Given the description of an element on the screen output the (x, y) to click on. 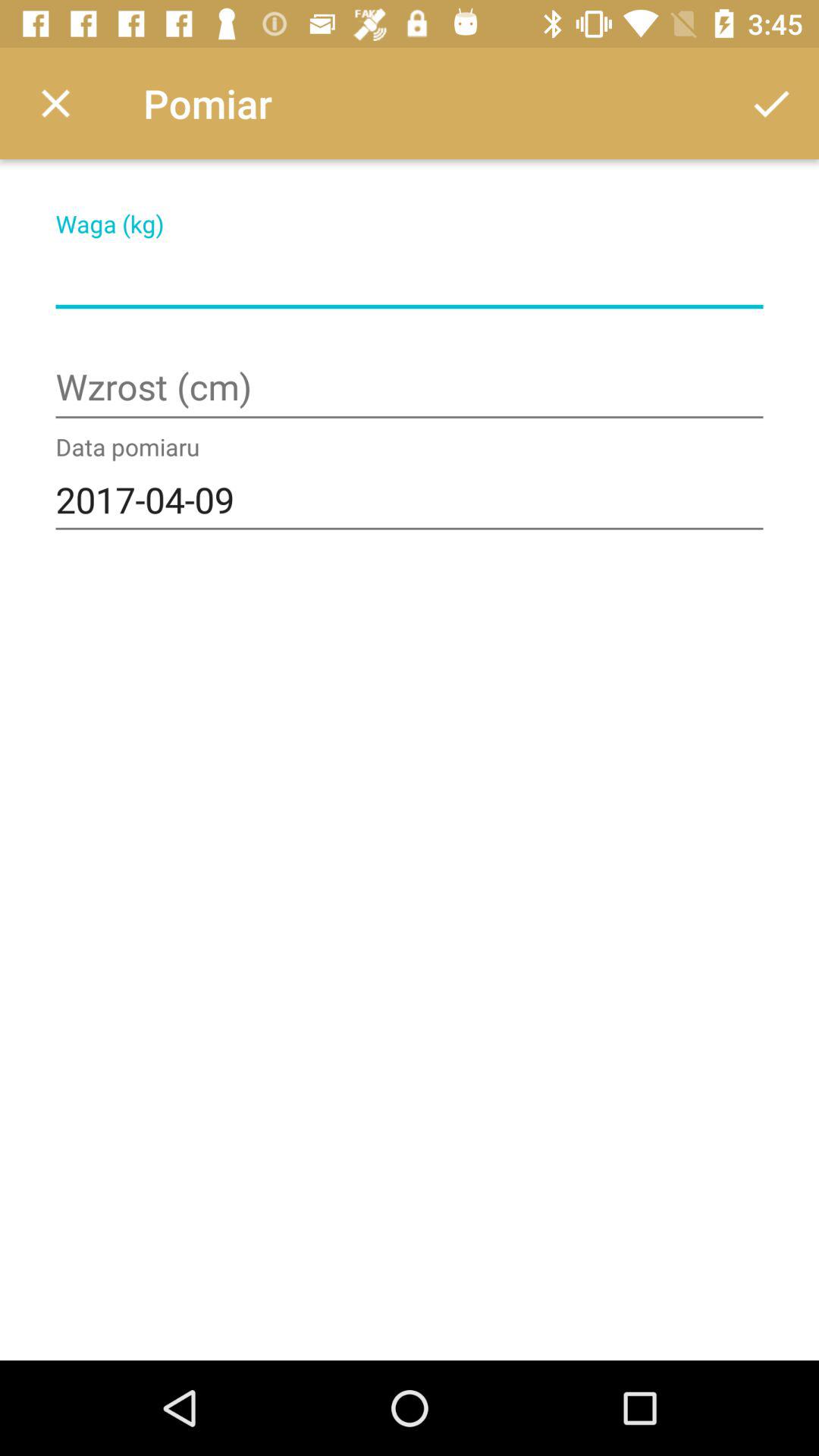
change weight (409, 277)
